Given the description of an element on the screen output the (x, y) to click on. 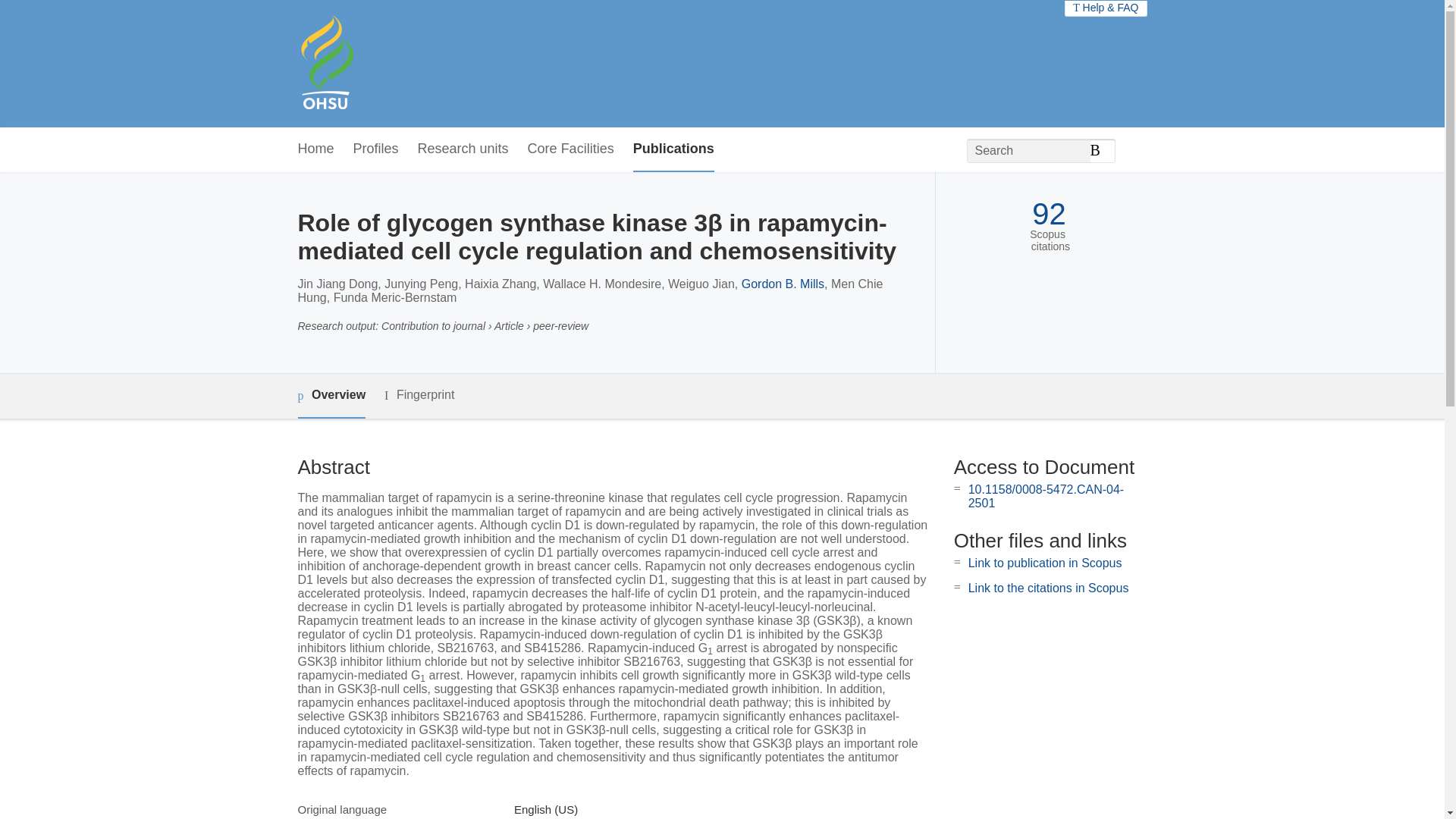
92 (1048, 213)
Profiles (375, 149)
Research units (462, 149)
Link to publication in Scopus (1045, 562)
Overview (331, 395)
Publications (673, 149)
Gordon B. Mills (782, 283)
Core Facilities (570, 149)
Fingerprint (419, 394)
